Given the description of an element on the screen output the (x, y) to click on. 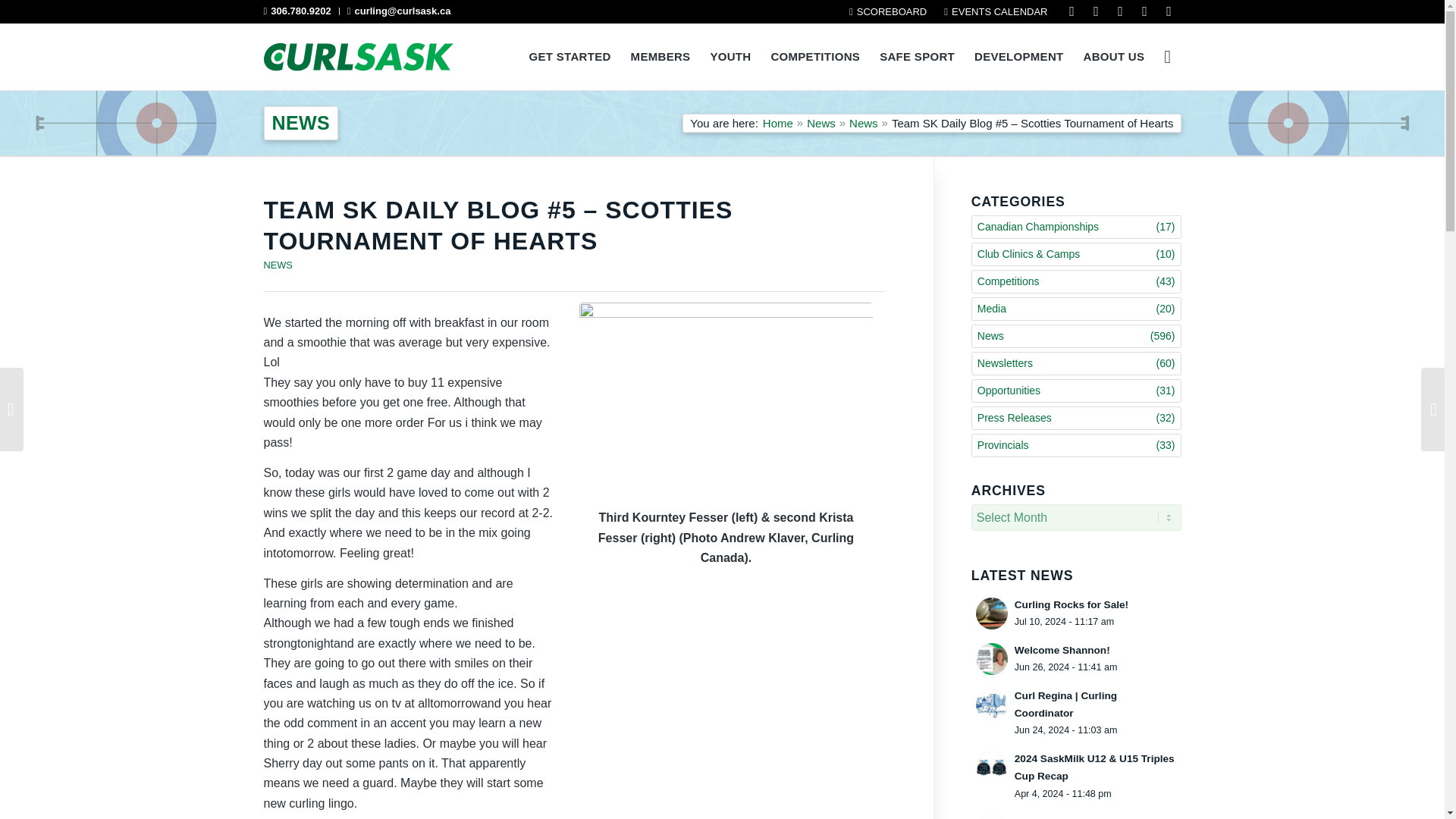
MEMBERS (660, 56)
Office Phone (297, 11)
CURLSASK (777, 122)
News (821, 122)
Instagram (1095, 11)
Permanent Link: News (300, 122)
306.780.9202 (297, 11)
YOUTH (730, 56)
Twitter (1119, 11)
COMPETITIONS (814, 56)
Mail (1168, 11)
Email Us (399, 11)
EVENTS CALENDAR (995, 11)
SCOREBOARD (887, 11)
Youtube (1144, 11)
